Given the description of an element on the screen output the (x, y) to click on. 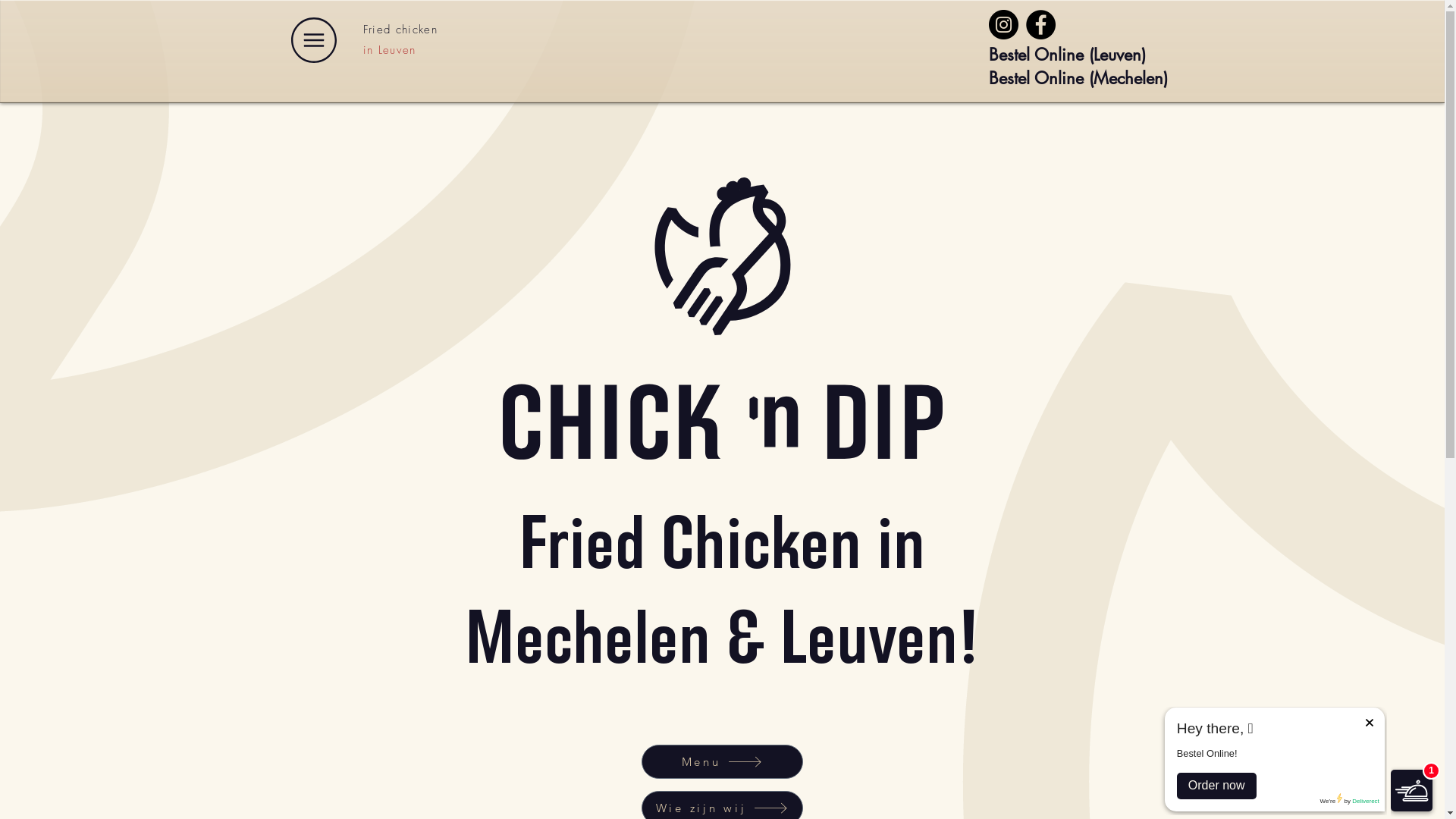
Menu Element type: text (722, 761)
Bestel Online (Leuven) Element type: text (1066, 54)
in Leuven Element type: text (388, 49)
Fried chicken Element type: text (399, 29)
Bestel Online (Mechelen) Element type: text (1077, 77)
